Given the description of an element on the screen output the (x, y) to click on. 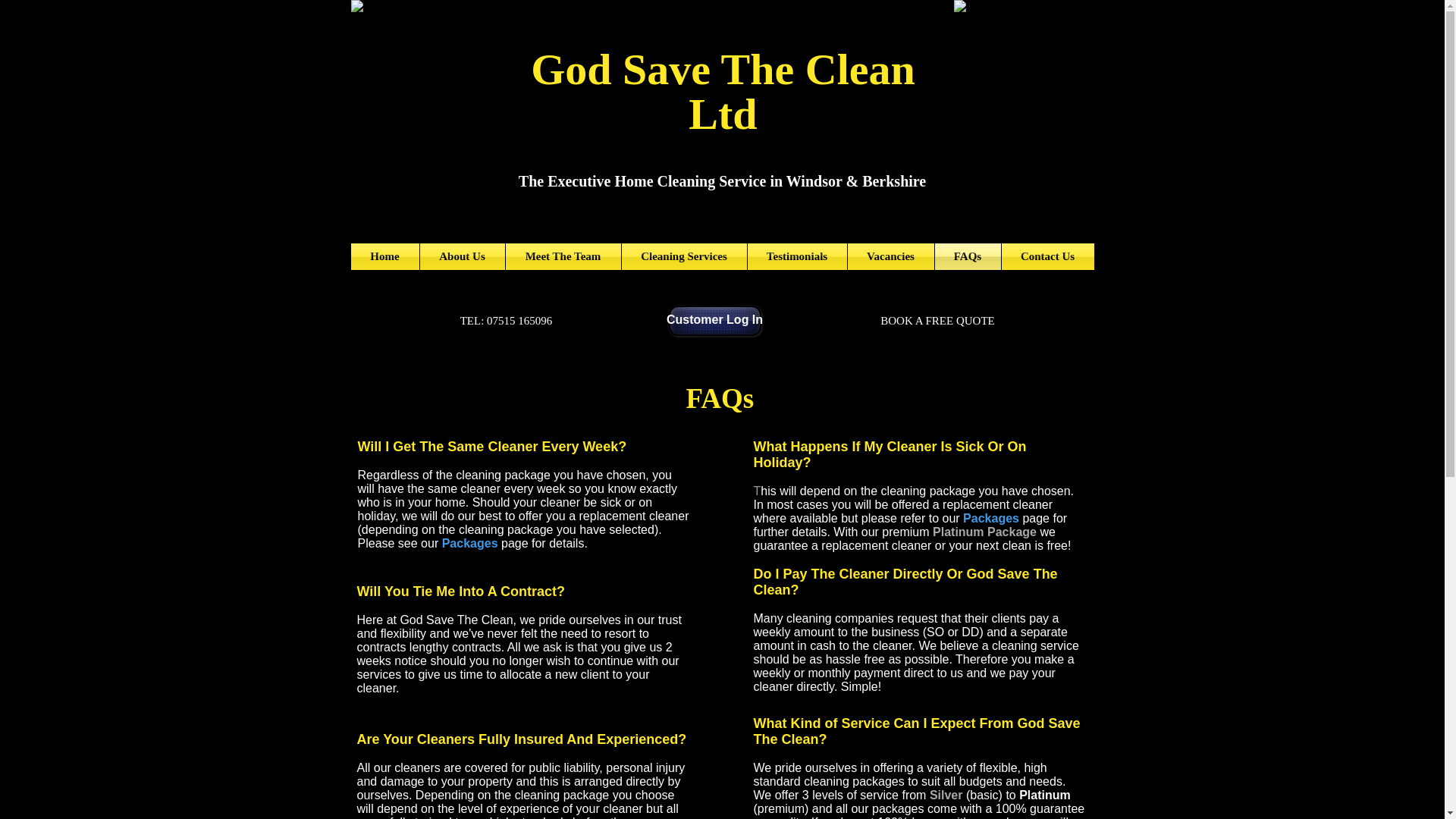
Cleaning Services (683, 256)
TEL: 07515 165096 (506, 320)
Packages  (992, 517)
BOOK A FREE QUOTE (937, 320)
God Save The Clean Ltd (723, 91)
Vacancies (890, 256)
FAQs (967, 256)
Packages (469, 543)
About Us (462, 256)
Home (384, 256)
